Given the description of an element on the screen output the (x, y) to click on. 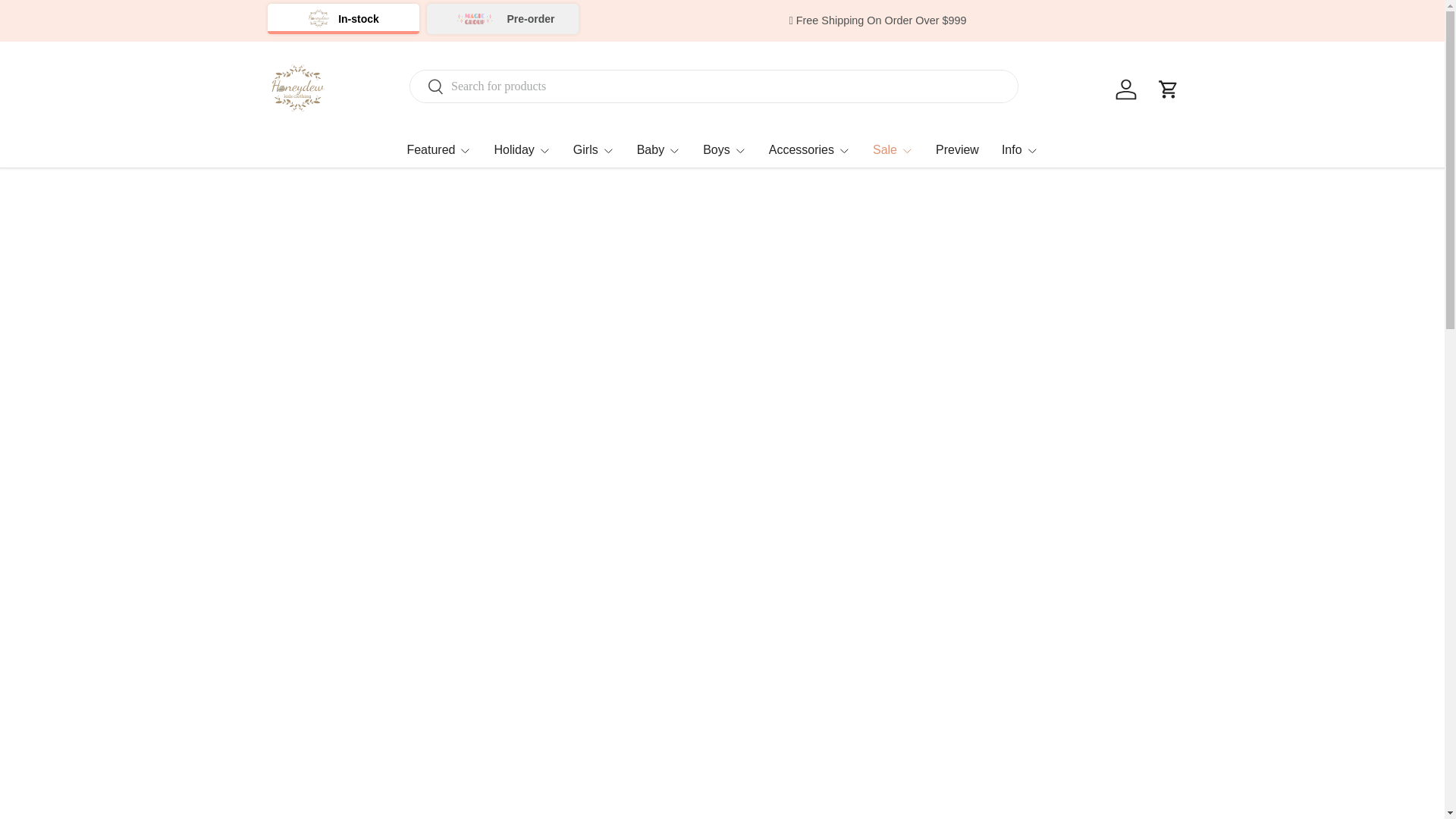
Pre-order (502, 19)
Featured (438, 148)
Cart (1168, 89)
Log in (1124, 89)
In-stock (342, 19)
Search (427, 87)
SKIP TO CONTENT (64, 21)
